Given the description of an element on the screen output the (x, y) to click on. 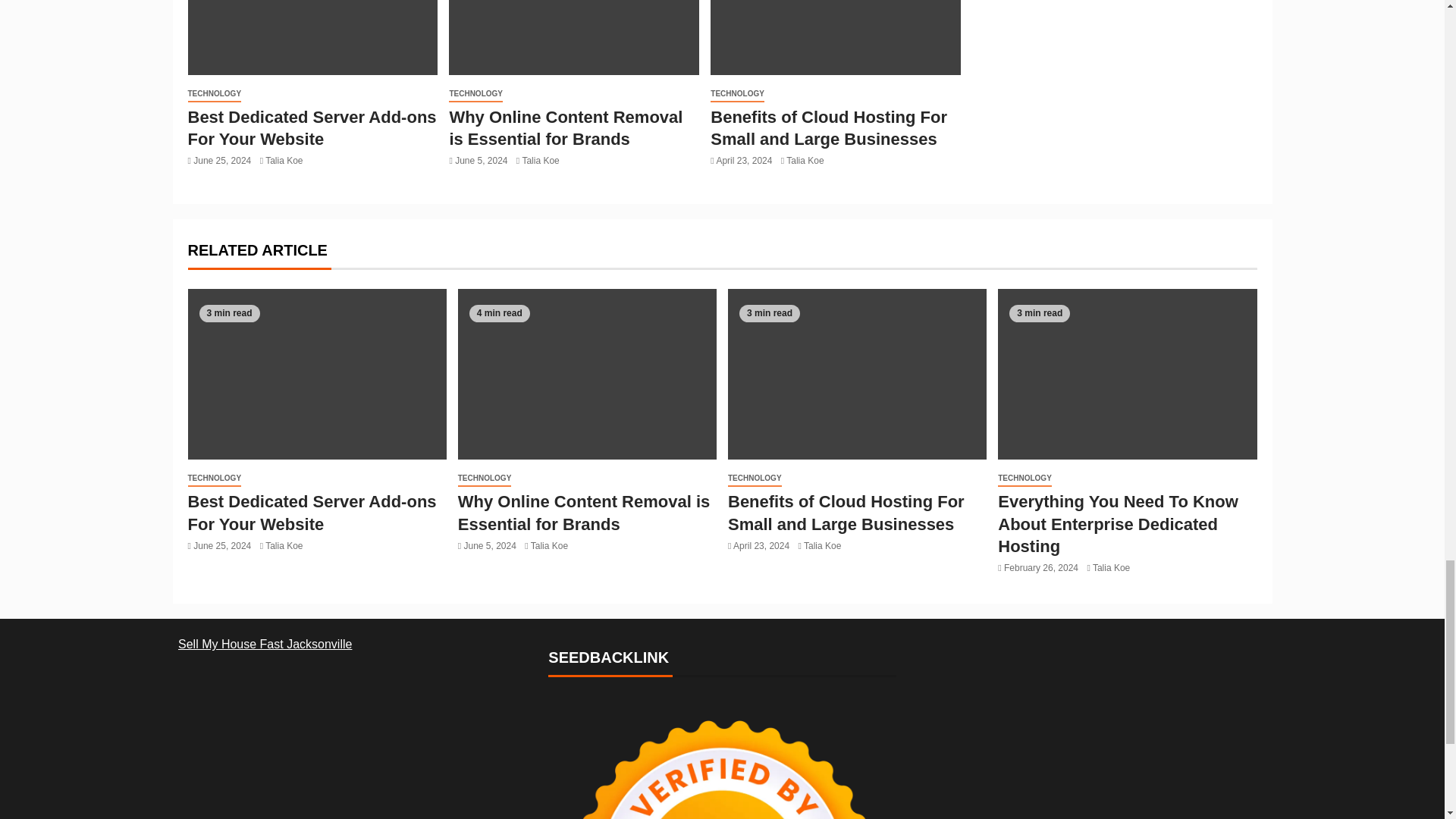
Talia Koe (283, 160)
Best Dedicated Server Add-ons For Your Website (311, 127)
Seedbacklink (721, 757)
TECHNOLOGY (214, 94)
